Given the description of an element on the screen output the (x, y) to click on. 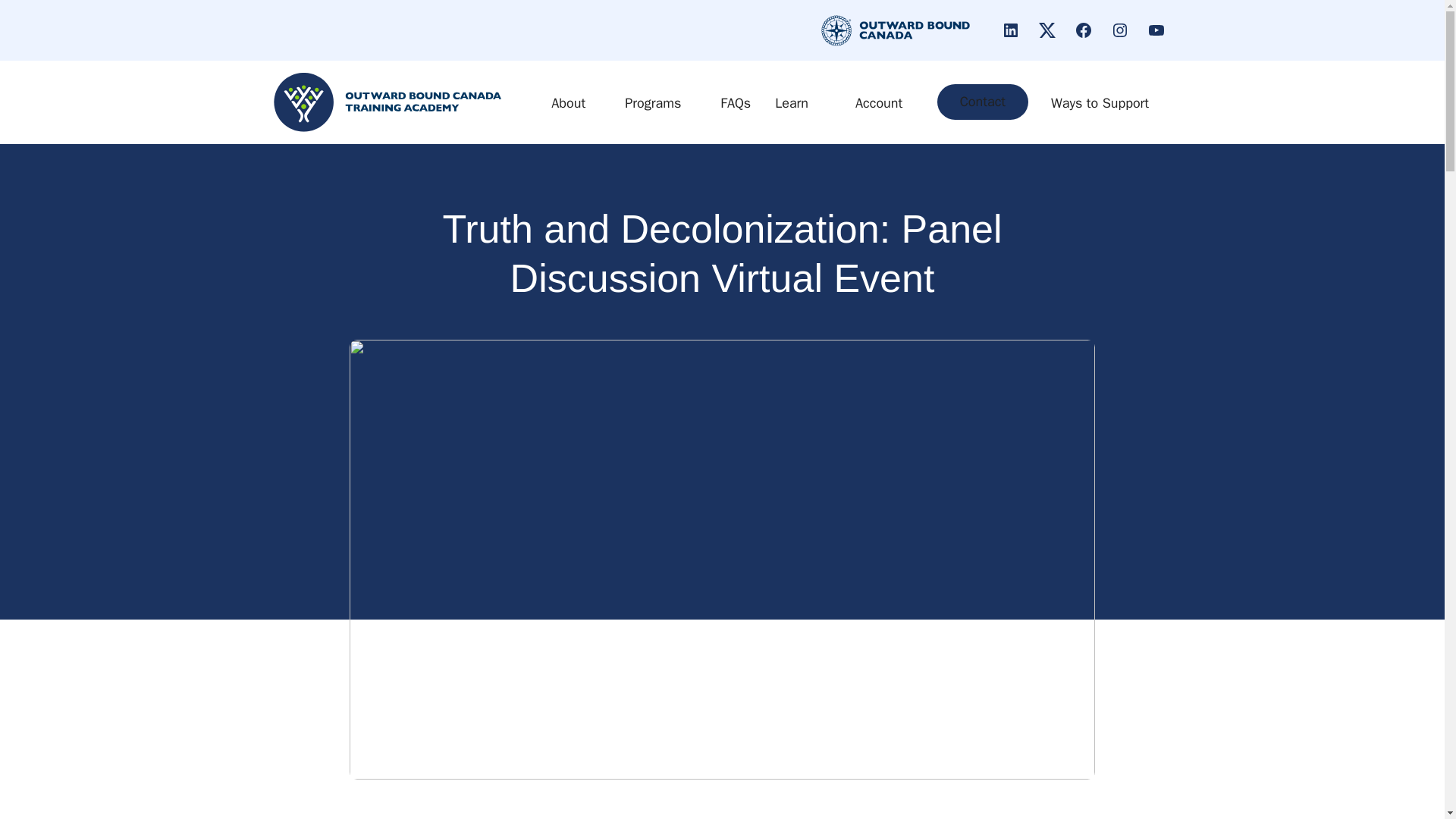
Contact (982, 101)
YouTube (1155, 30)
Account (884, 102)
Learn (790, 102)
FAQs (735, 102)
Programs (652, 102)
About (567, 102)
Ways to Support (1105, 102)
Instagram (1118, 30)
Twitter (1045, 30)
LinkedIn (1009, 30)
Facebook (1082, 30)
